Given the description of an element on the screen output the (x, y) to click on. 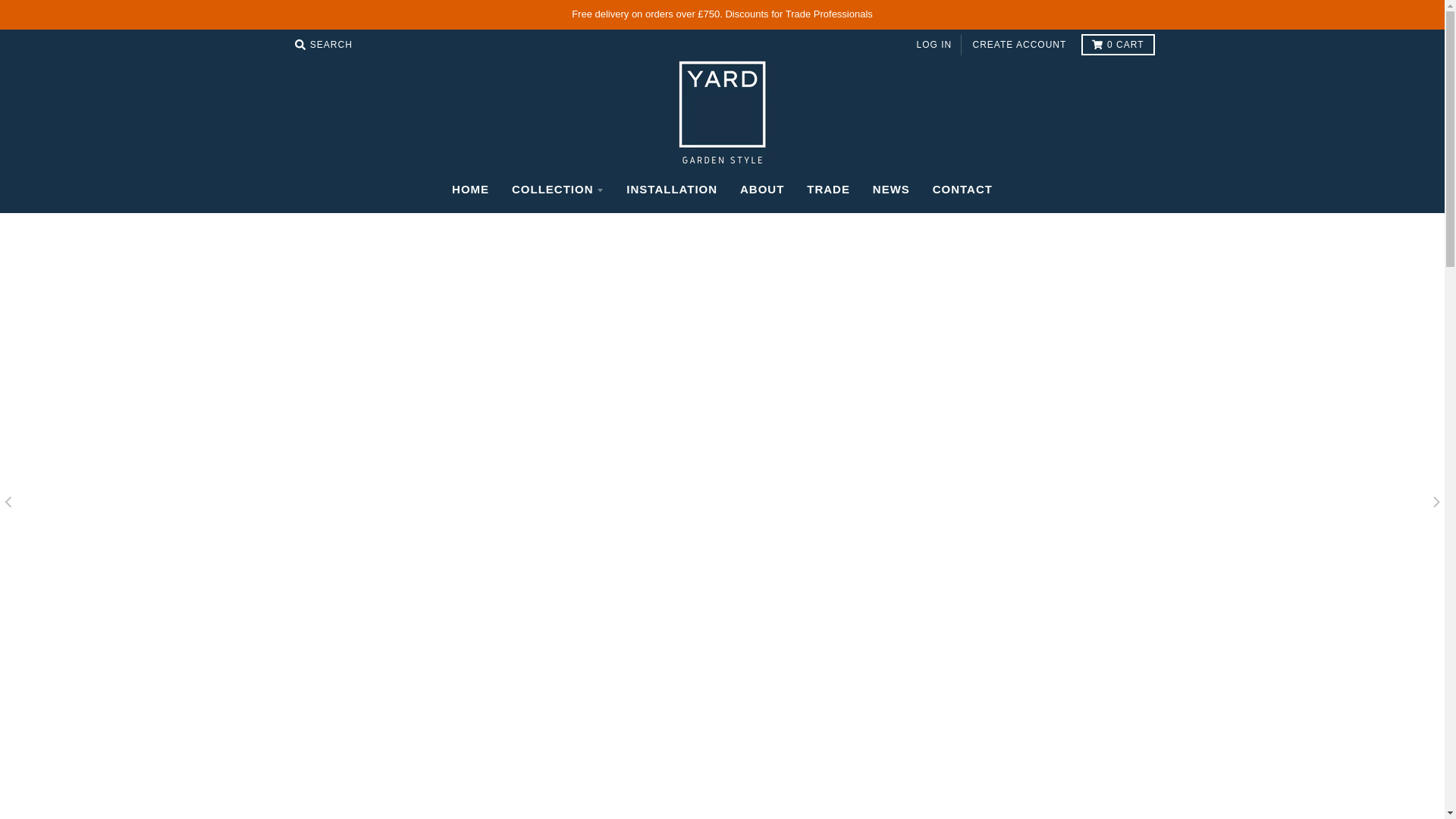
HOME (470, 189)
LOG IN (933, 45)
COLLECTION (558, 189)
0 CART (1117, 44)
CREATE ACCOUNT (1019, 45)
SEARCH (322, 44)
